Given the description of an element on the screen output the (x, y) to click on. 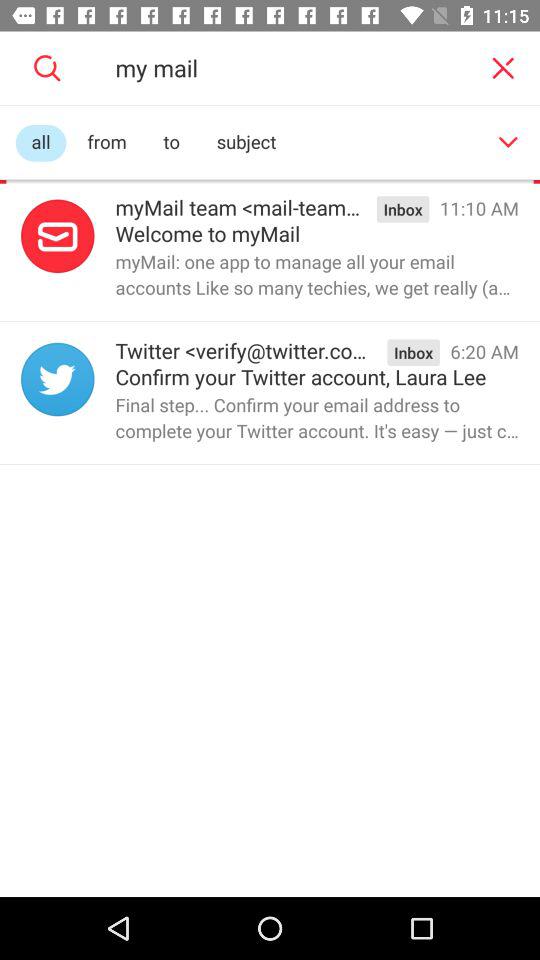
launch the icon to the right of the all item (106, 142)
